Given the description of an element on the screen output the (x, y) to click on. 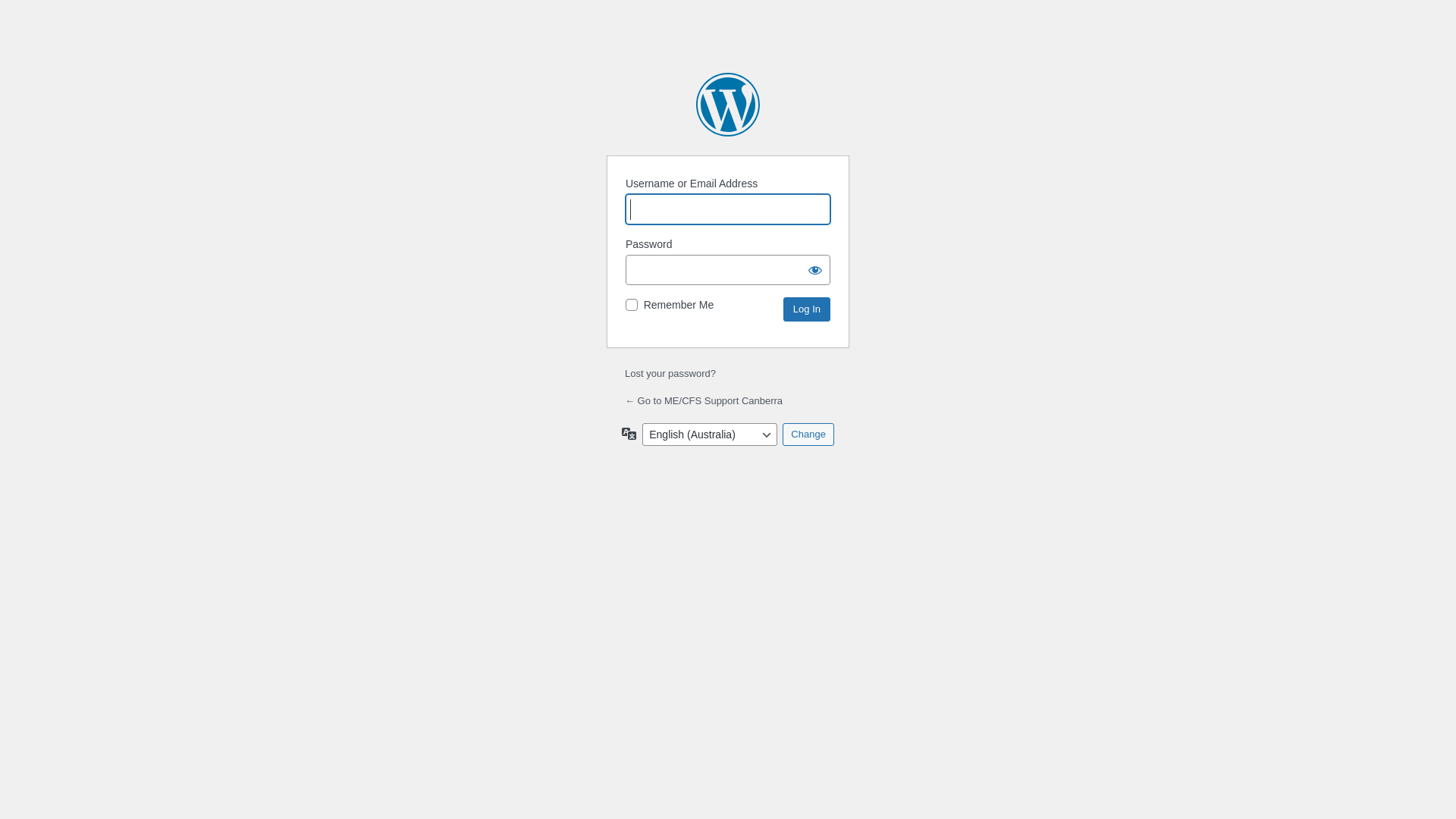
Log In Element type: text (806, 309)
Lost your password? Element type: text (669, 373)
Change Element type: text (808, 434)
Powered by WordPress Element type: text (727, 104)
